Given the description of an element on the screen output the (x, y) to click on. 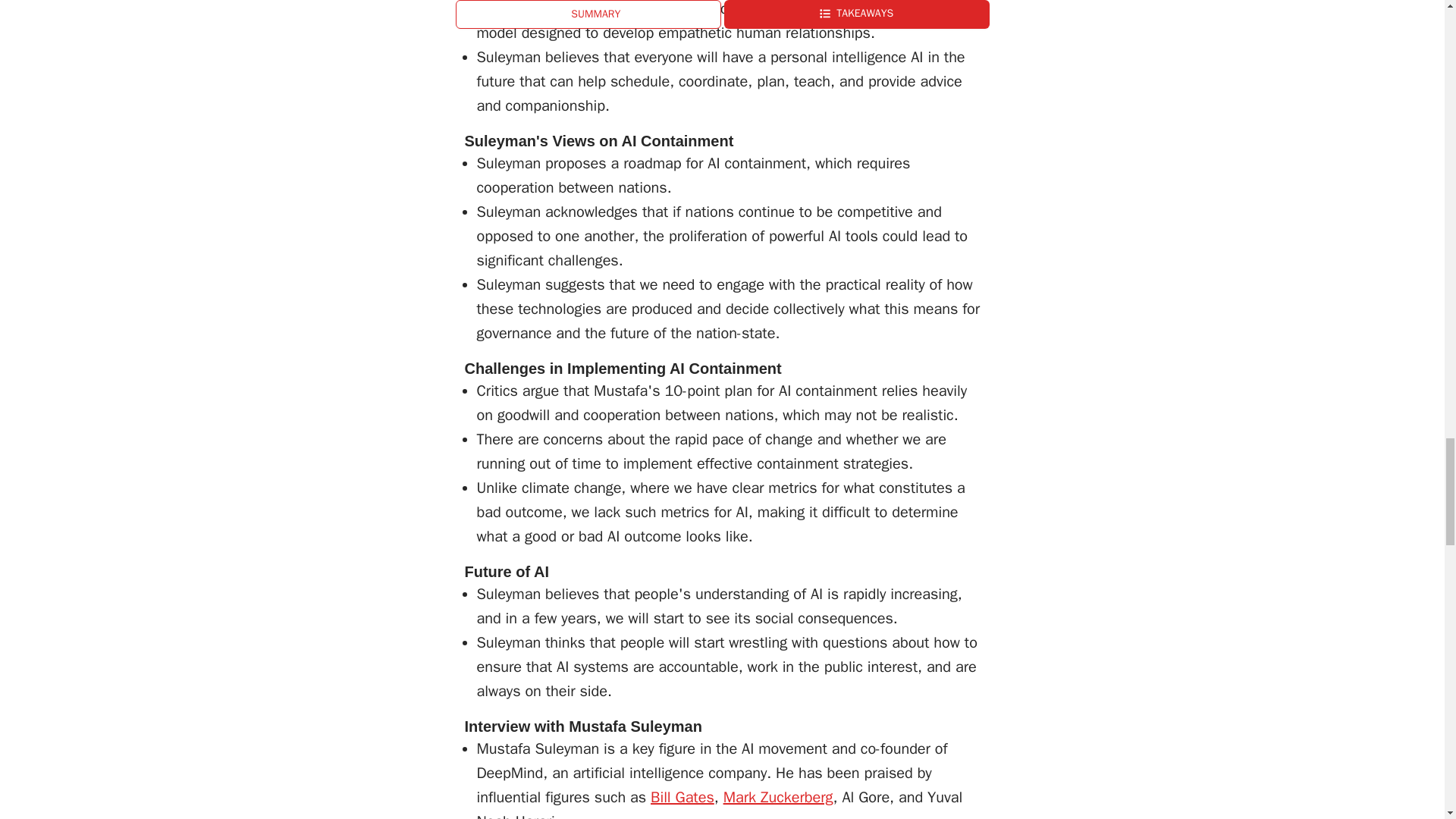
Mark Zuckerberg (777, 796)
Bill Gates (682, 796)
